Given the description of an element on the screen output the (x, y) to click on. 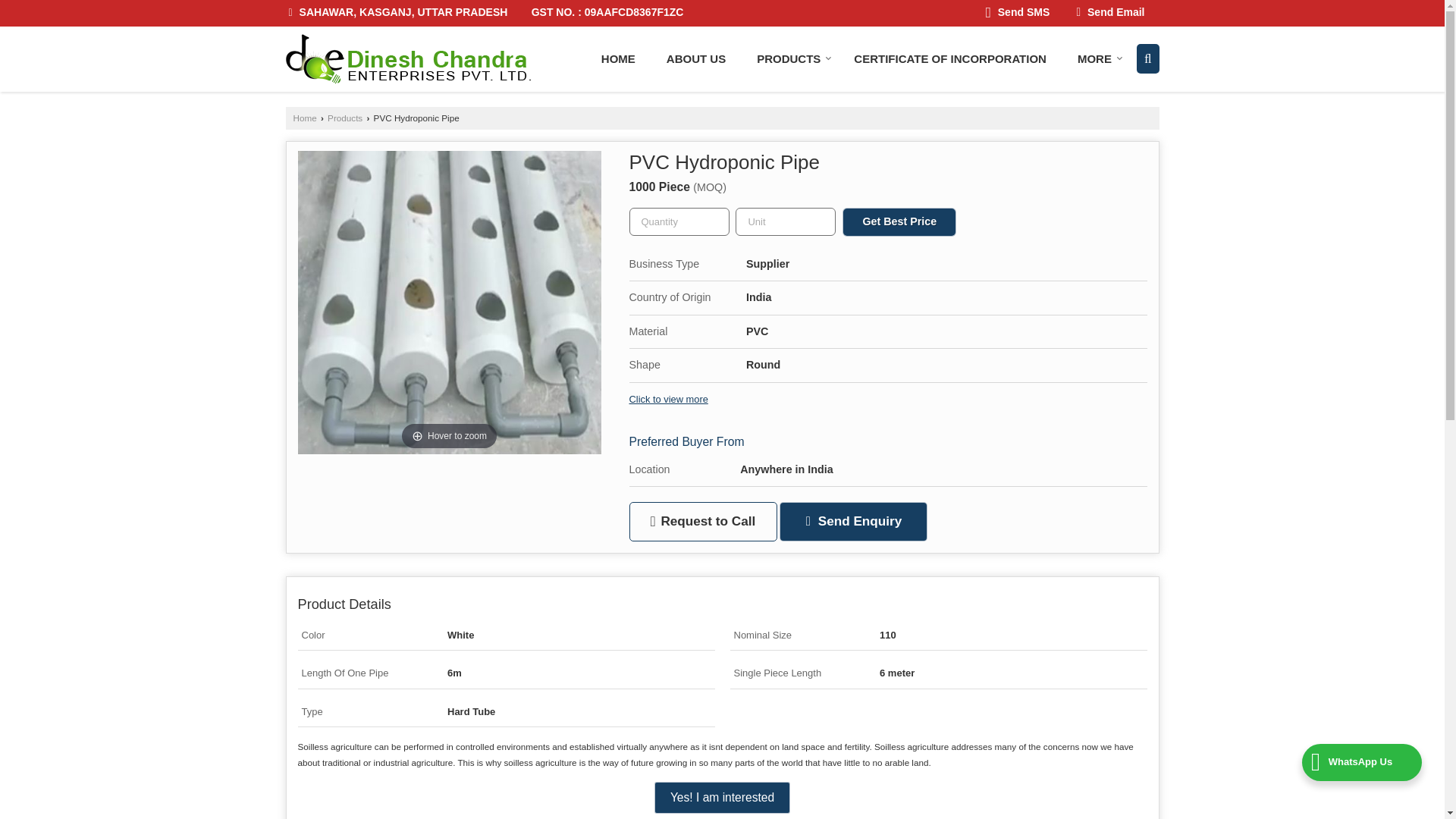
MORE (1095, 59)
Send Email (1110, 13)
HOME (618, 59)
PRODUCTS (789, 59)
About Us (695, 59)
Dinesh Chandra Enterprises Pvt. Ltd. (408, 59)
Send SMS (1017, 13)
CERTIFICATE OF INCORPORATION (949, 59)
Products (789, 59)
ABOUT US (695, 59)
Home (618, 59)
